Given the description of an element on the screen output the (x, y) to click on. 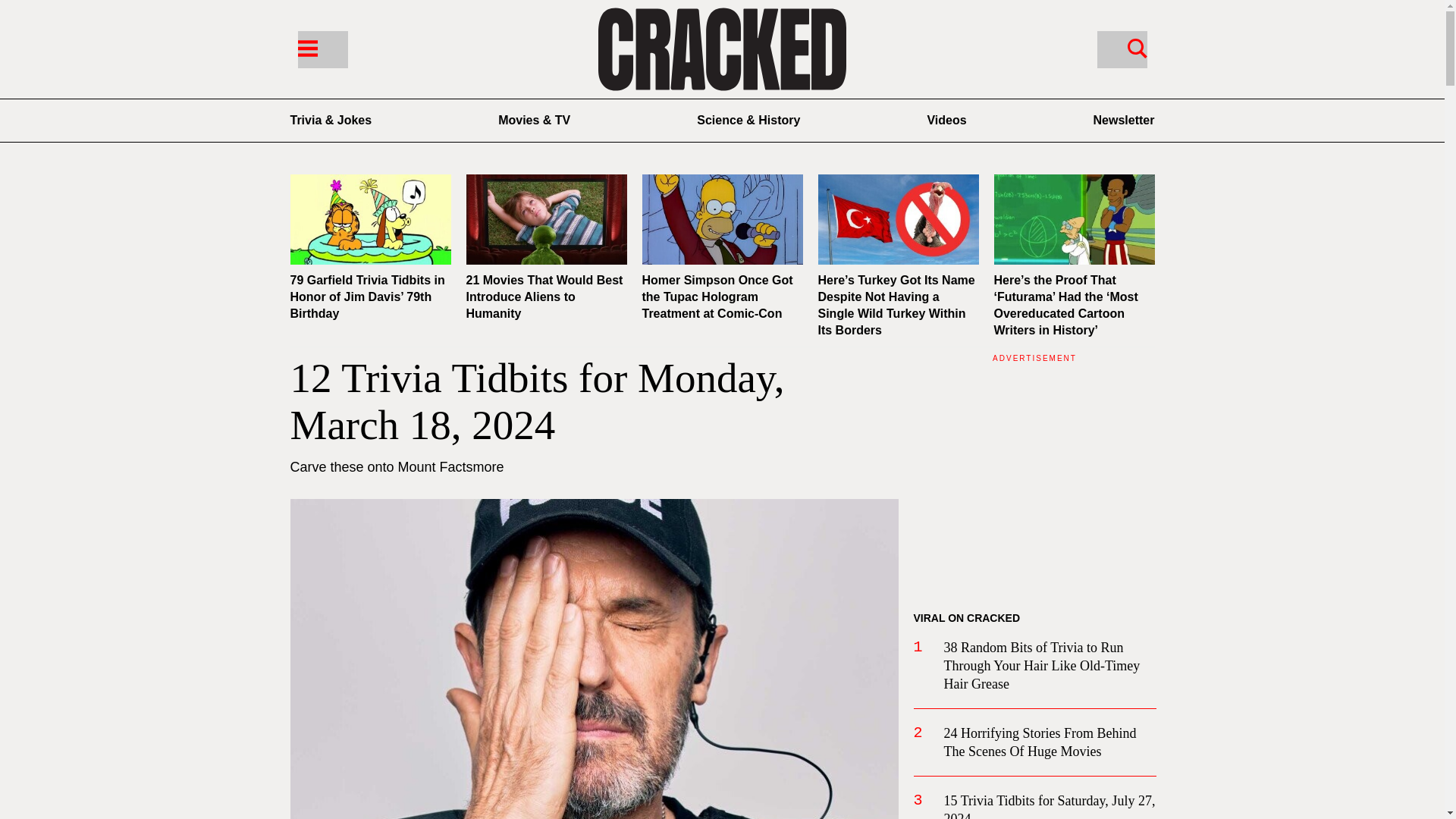
Newsletter (1123, 119)
Videos (946, 119)
21 Movies That Would Best Introduce Aliens to Humanity (545, 219)
Videos (946, 119)
21 Movies That Would Best Introduce Aliens to Humanity (544, 296)
Menu (322, 48)
Search (1136, 47)
Menu (307, 47)
Search (1121, 48)
Cracked Newsletter (1123, 119)
